Given the description of an element on the screen output the (x, y) to click on. 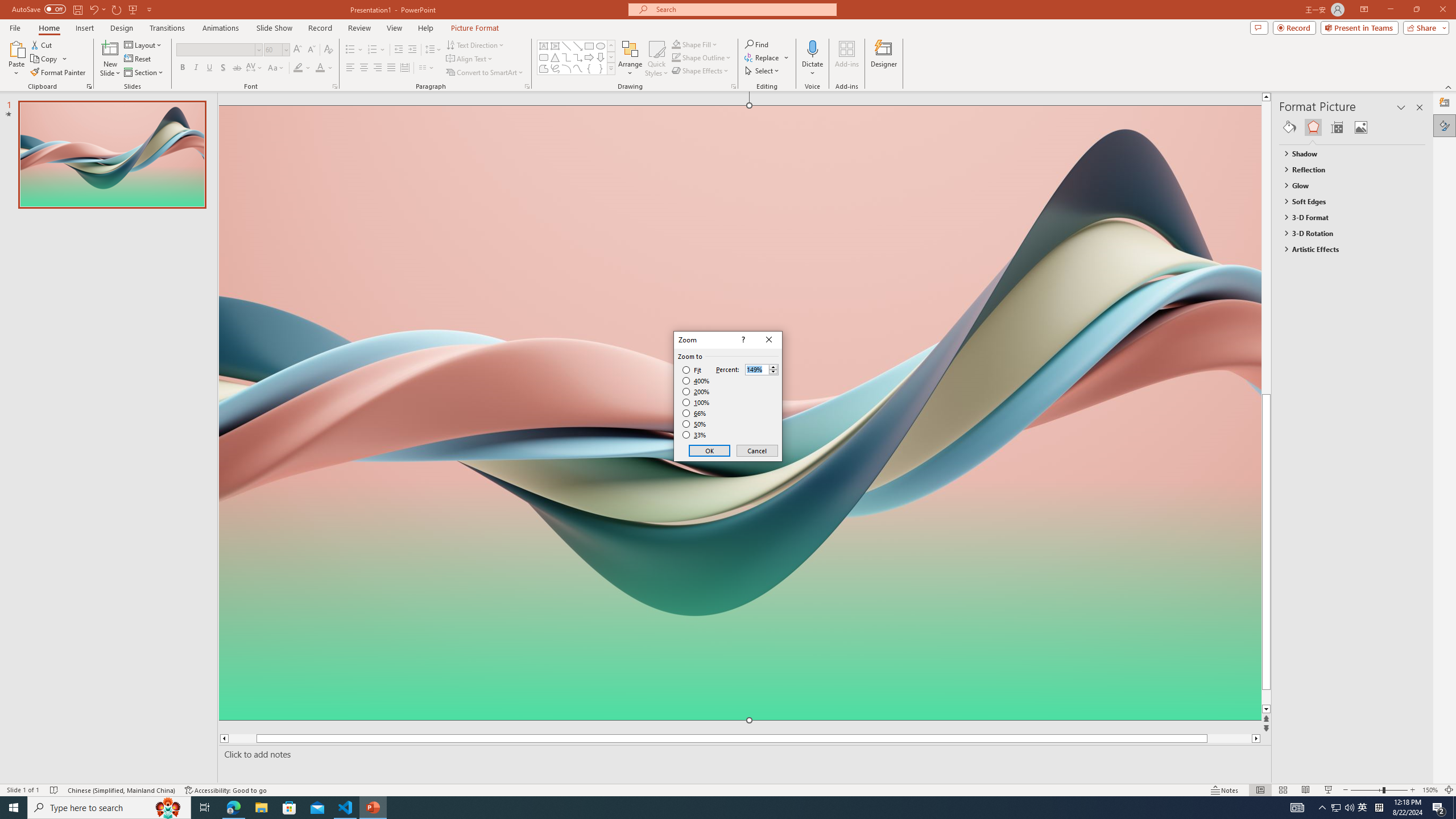
Convert to SmartArt (485, 72)
Align Text (470, 58)
Page up (1287, 247)
66% (694, 412)
Bold (182, 67)
Increase Indent (412, 49)
Cancel (756, 450)
Quick Styles (1335, 807)
Increase Font Size (656, 58)
Isosceles Triangle (297, 49)
